Given the description of an element on the screen output the (x, y) to click on. 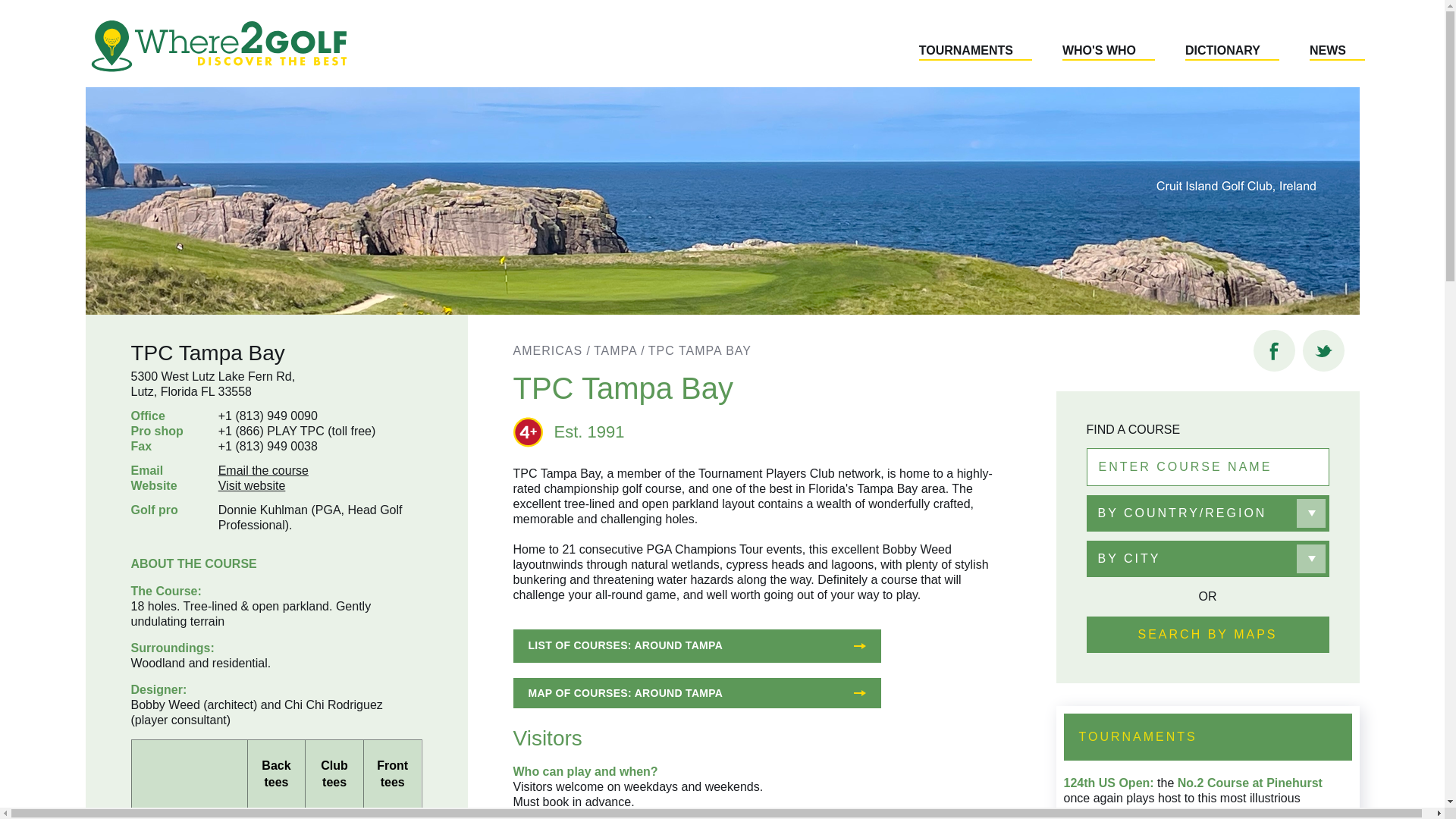
WHO'S WHO (1108, 52)
MAP OF COURSES: AROUND TAMPA (696, 693)
LIST OF COURSES: AROUND TAMPA (696, 645)
TOURNAMENTS (975, 52)
NEWS (1336, 52)
DICTIONARY (1232, 52)
Email the course (263, 470)
BY CITY (1206, 558)
Visit website (251, 485)
